Given the description of an element on the screen output the (x, y) to click on. 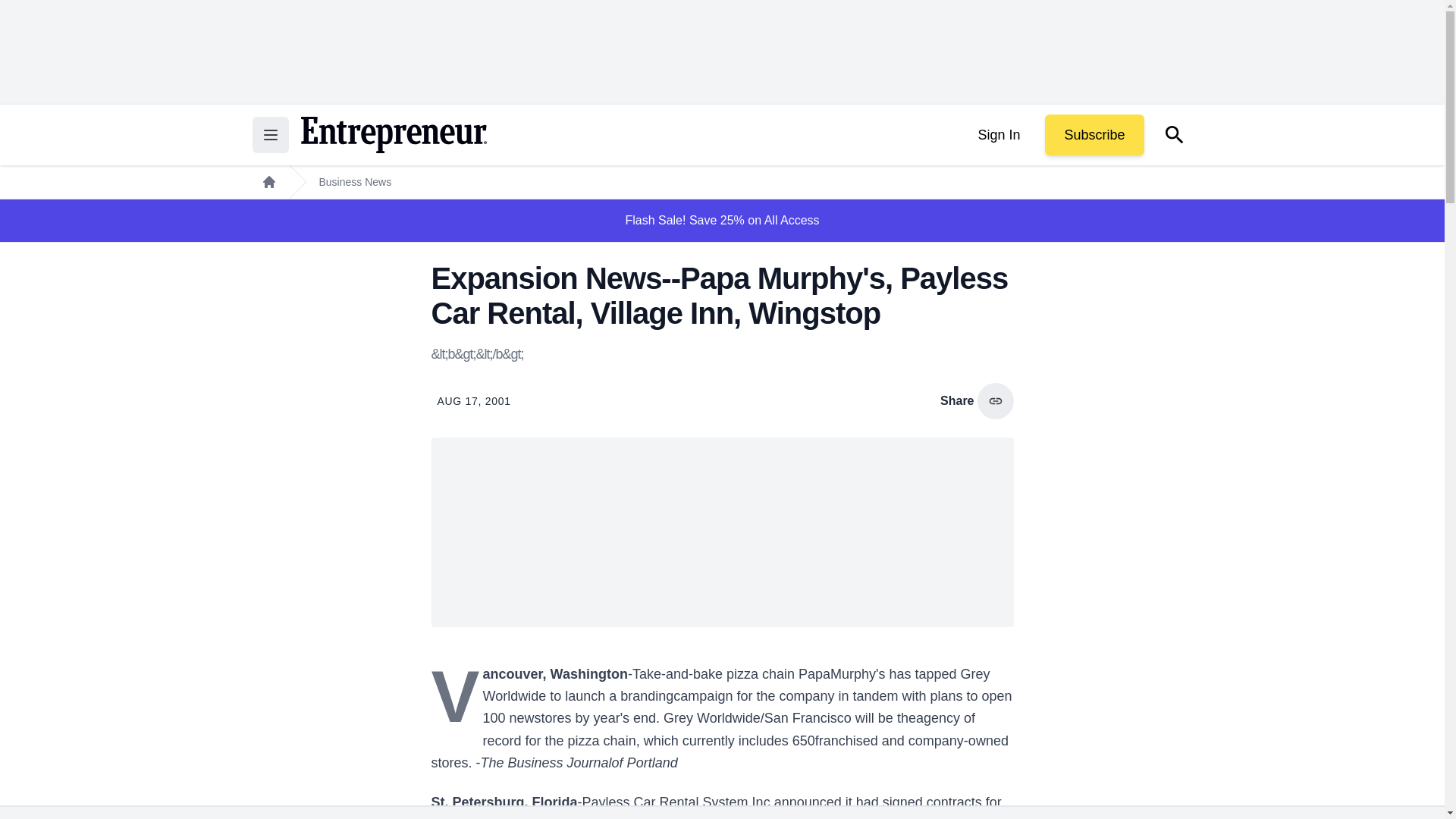
Subscribe (1093, 134)
copy (994, 401)
Sign In (998, 134)
Return to the home page (392, 135)
